Given the description of an element on the screen output the (x, y) to click on. 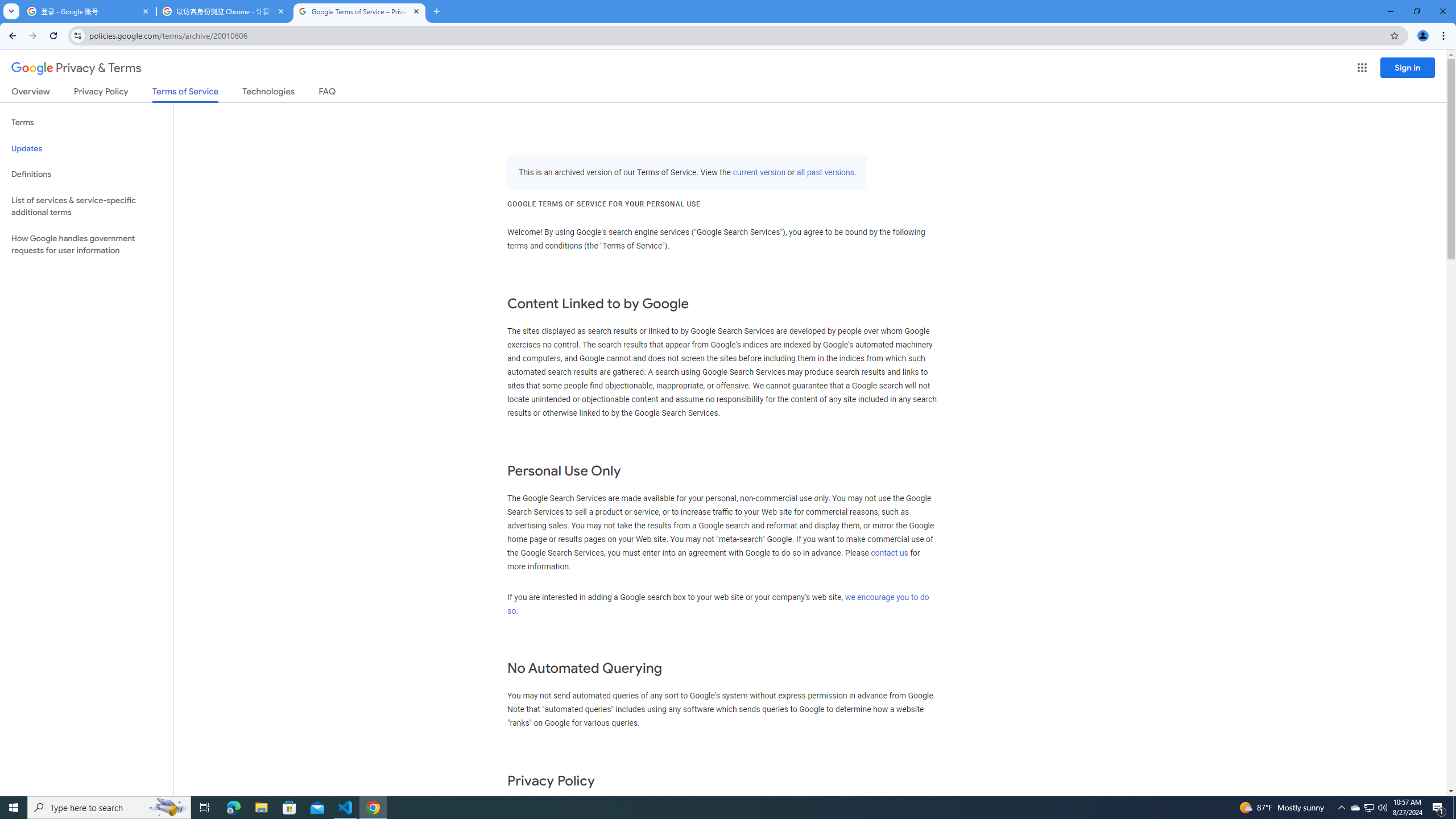
Definitions (86, 174)
current version (759, 172)
How Google handles government requests for user information (86, 244)
